Given the description of an element on the screen output the (x, y) to click on. 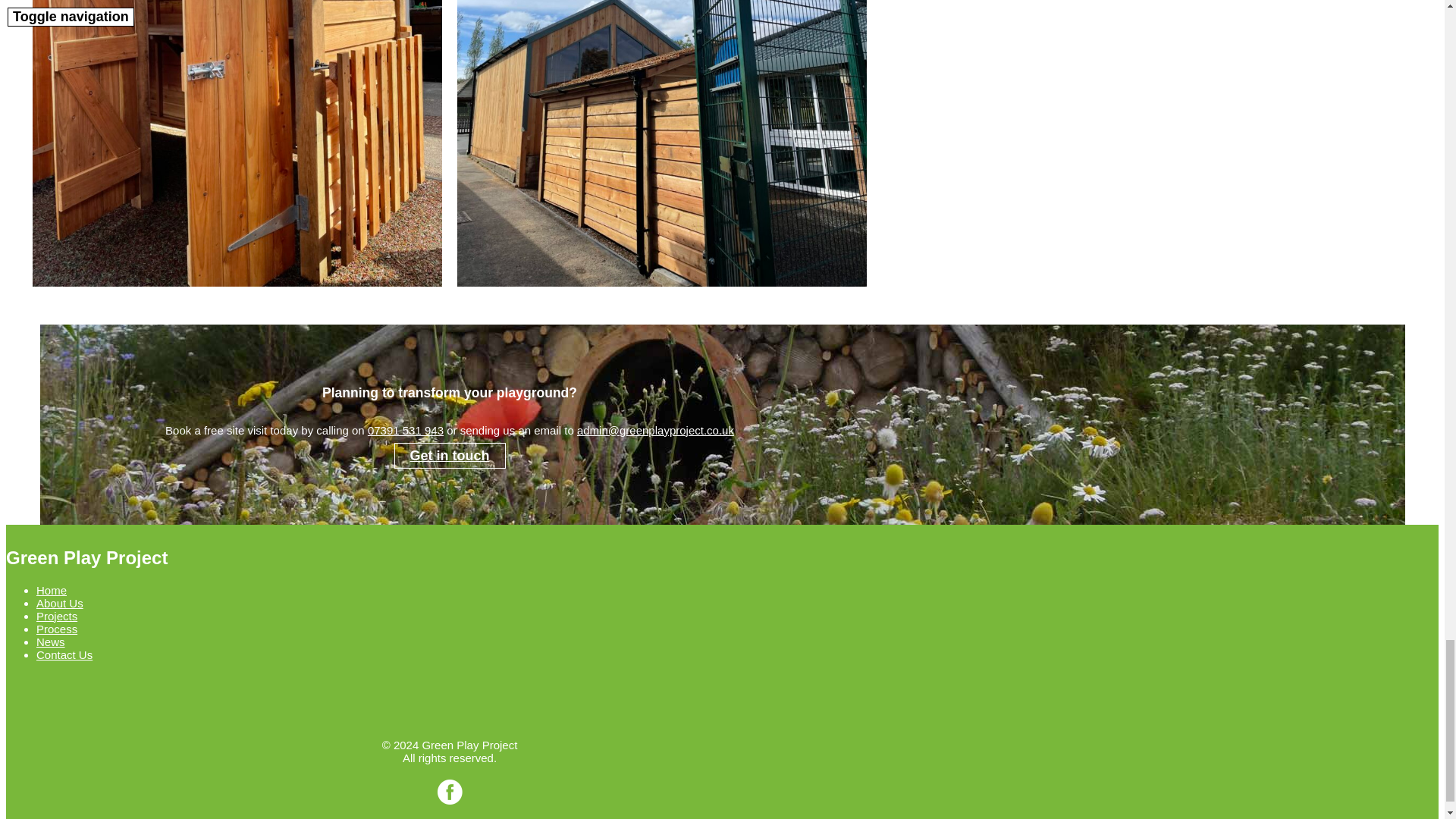
07391 531 943 (406, 430)
Process (56, 628)
Get in touch (449, 455)
Contact Us (64, 654)
About Us (59, 602)
Projects (56, 615)
Home (51, 589)
News (50, 641)
